Given the description of an element on the screen output the (x, y) to click on. 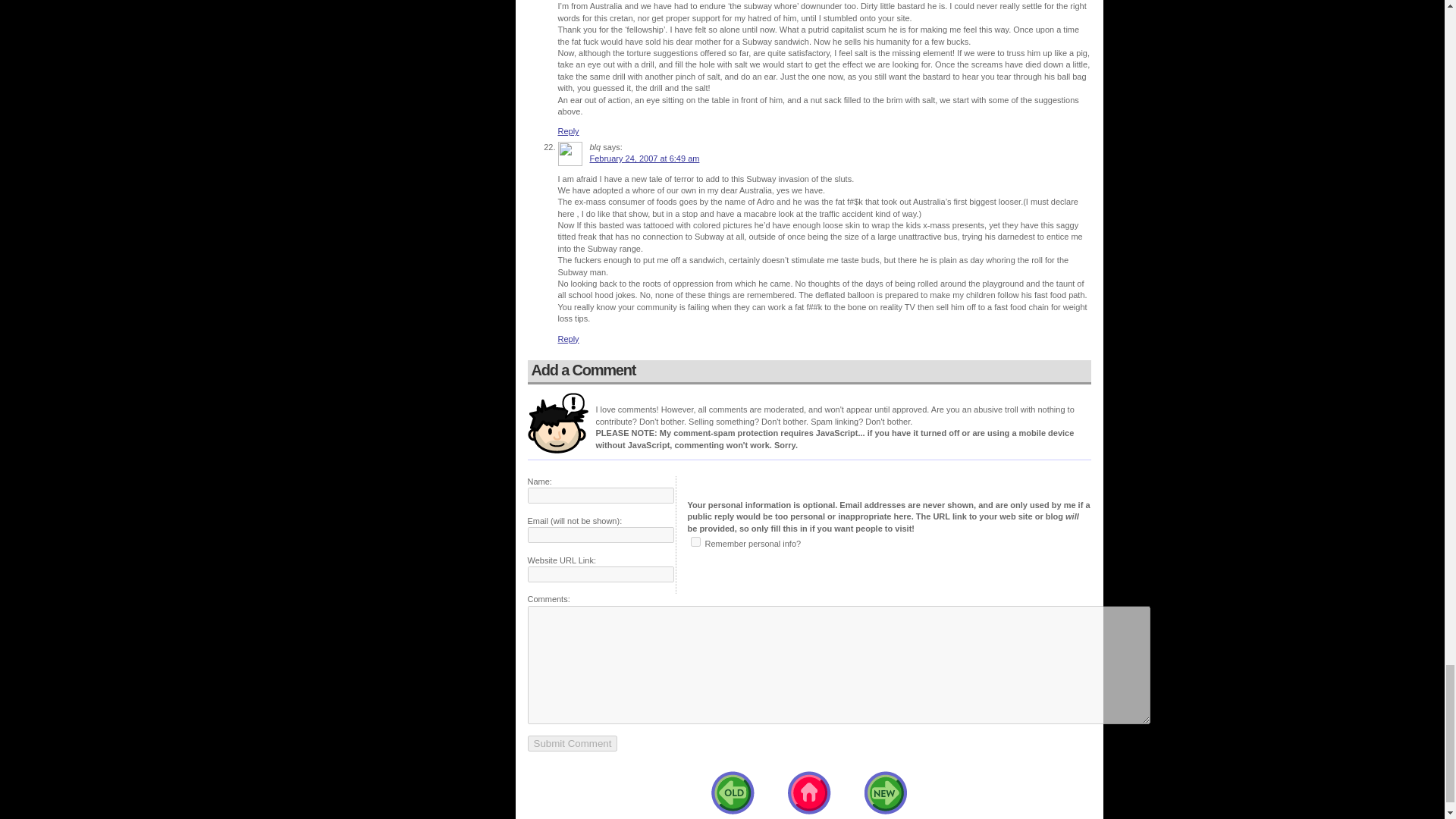
1 (695, 542)
Submit Comment (572, 743)
